Given the description of an element on the screen output the (x, y) to click on. 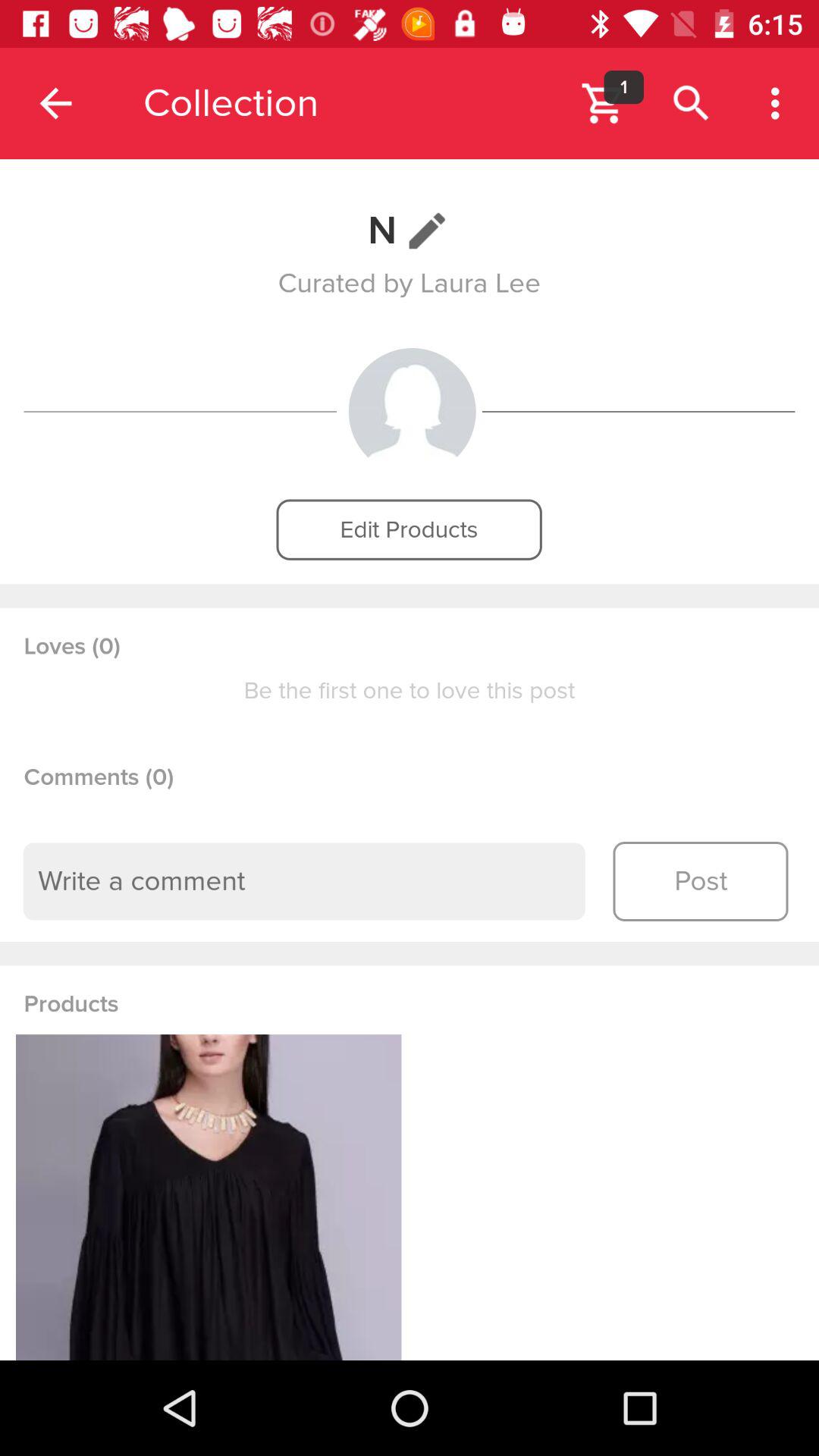
open cart (603, 103)
